Given the description of an element on the screen output the (x, y) to click on. 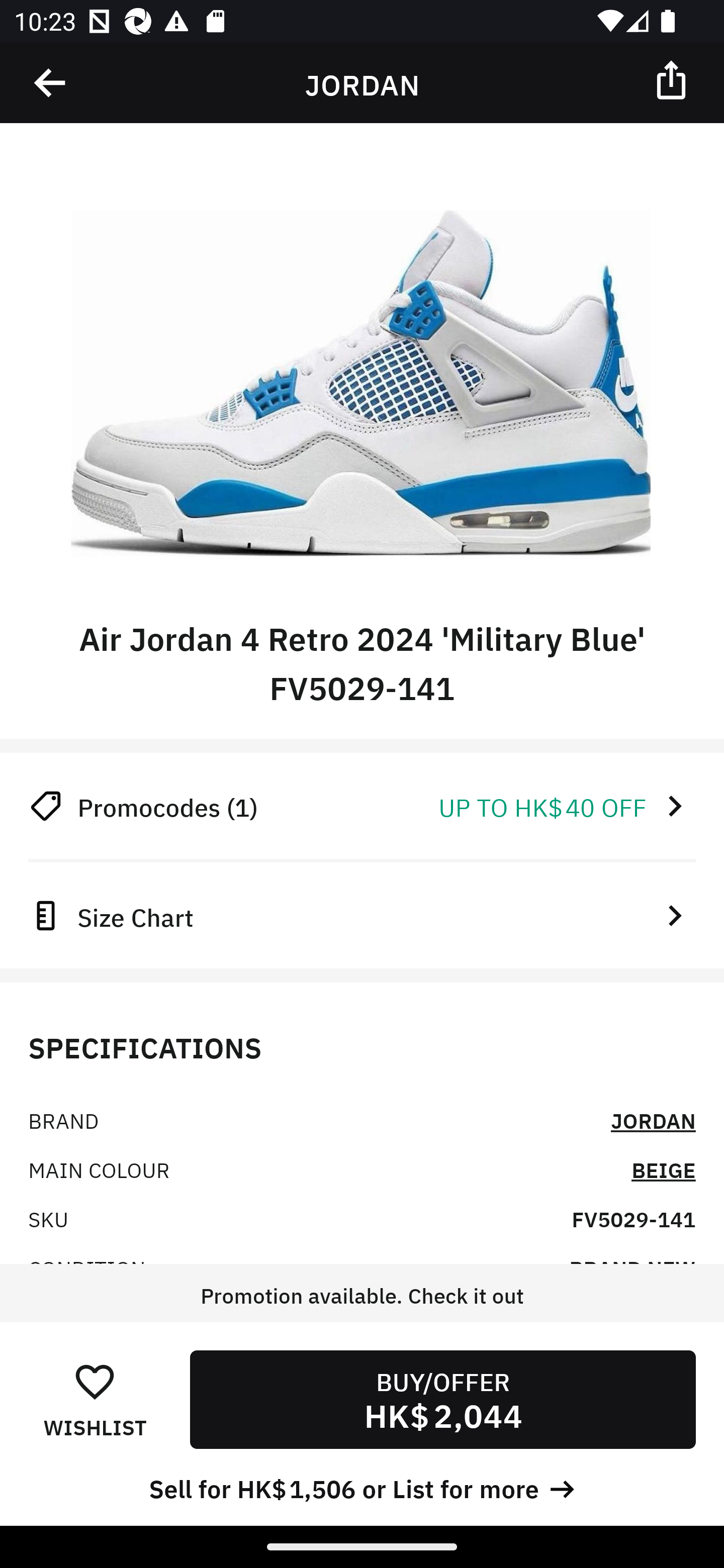
 (50, 83)
 (672, 79)
Promocodes (1) UP TO HK$ 40 OFF  (361, 805)
Size Chart  (361, 914)
JORDAN (653, 1119)
BEIGE (663, 1168)
FV5029-141 (633, 1218)
BUY/OFFER HK$ 2,044 (442, 1399)
󰋕 (94, 1380)
Sell for HK$ 1,506 or List for more (361, 1486)
